Given the description of an element on the screen output the (x, y) to click on. 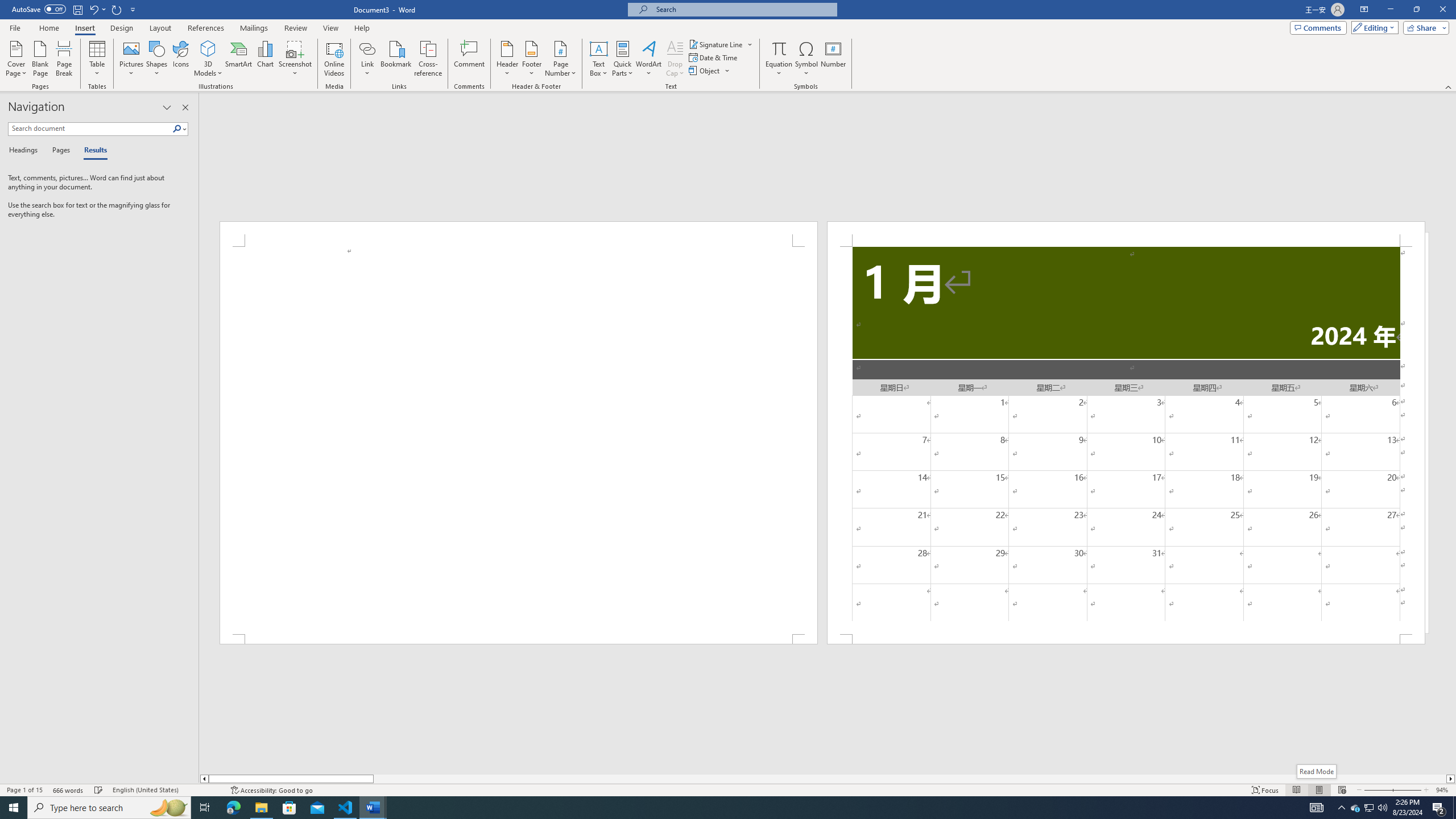
Class: NetUIScrollBar (827, 778)
Comments (1318, 27)
Pictures (131, 58)
Header -Section 1- (1126, 233)
Microsoft search (742, 9)
Results (91, 150)
Class: MsoCommandBar (728, 789)
Insert (83, 28)
Share (1423, 27)
Headings (25, 150)
Table (97, 58)
Mailings (253, 28)
Close (1442, 9)
Online Videos... (333, 58)
